Given the description of an element on the screen output the (x, y) to click on. 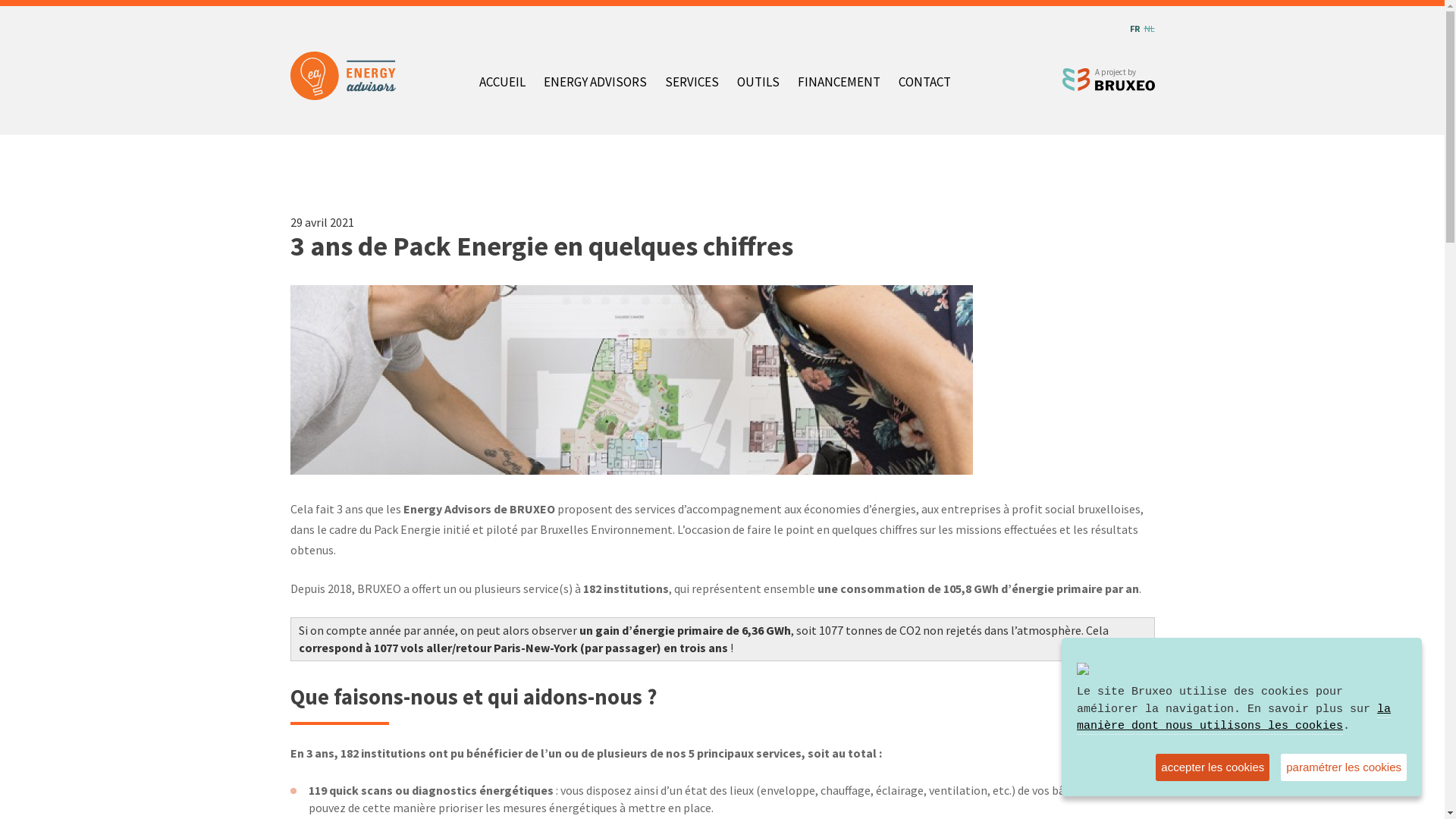
SEARCH Element type: text (978, 83)
ENERGY ADVISORS Element type: text (594, 83)
CONTACT Element type: text (924, 83)
NL Element type: text (1148, 28)
FR Element type: text (1134, 28)
OUTILS Element type: text (758, 83)
Accueil Element type: hover (348, 75)
ACCUEIL Element type: text (502, 83)
accepter les cookies Element type: text (1212, 767)
SERVICES Element type: text (691, 83)
FINANCEMENT Element type: text (838, 83)
Aller au contenu principal Element type: text (0, 0)
Accueil Element type: hover (1108, 79)
